Given the description of an element on the screen output the (x, y) to click on. 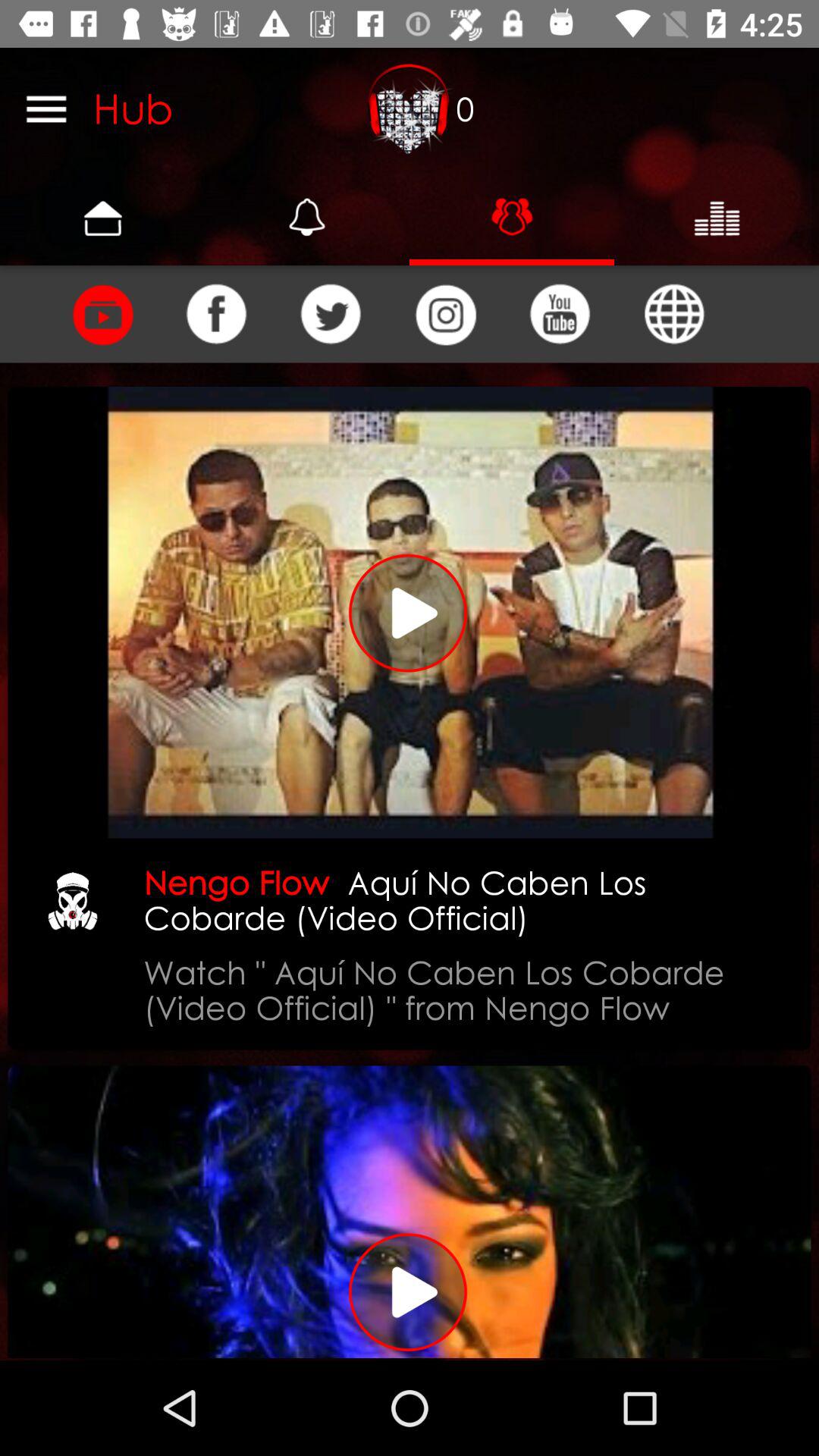
play the highlighted song (409, 612)
